Given the description of an element on the screen output the (x, y) to click on. 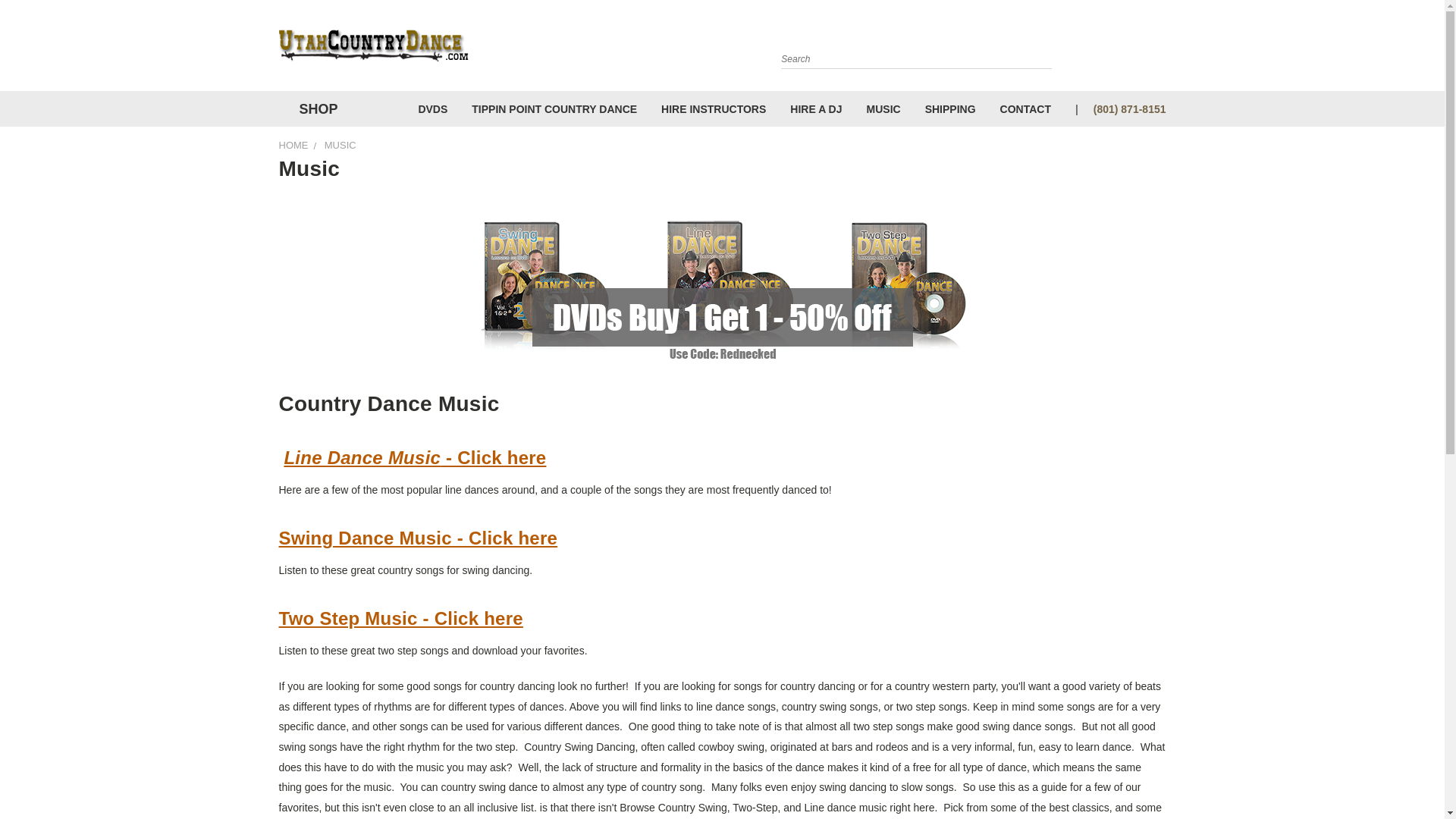
Line Dance Music - Click here (414, 457)
User Toolbox (1135, 48)
HIRE A DJ (815, 107)
CONTACT (1025, 107)
TIPPIN POINT COUNTRY DANCE (554, 107)
all-dvd-banner-for-web-pages.png (721, 287)
Cart (1161, 48)
Swing Dance Music - Click here (418, 537)
MUSIC (883, 107)
HOME (293, 144)
DVDS (433, 107)
UtahCountryDance.com (373, 45)
Two Step Music - Click here (400, 618)
SHIPPING (950, 107)
HIRE INSTRUCTORS (713, 107)
